Given the description of an element on the screen output the (x, y) to click on. 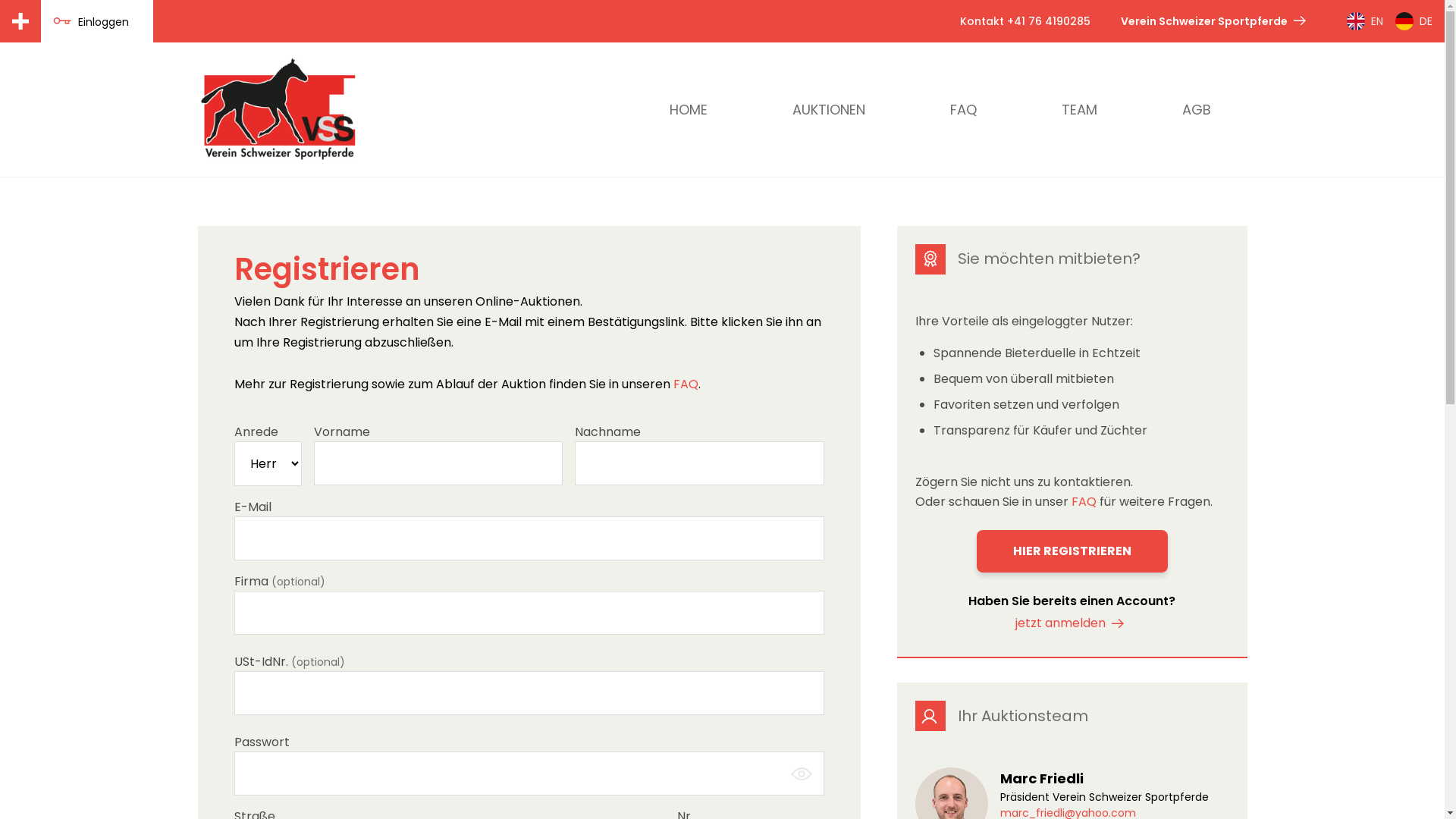
Kontakt +41 76 4190285 Element type: text (1025, 21)
Verein Schweizer Sportpferde Element type: text (1215, 21)
AUKTIONEN Element type: text (827, 109)
jetzt anmelden Element type: text (1071, 623)
Einloggen Element type: text (90, 21)
TEAM Element type: text (1079, 109)
FAQ Element type: text (962, 109)
DE Element type: text (1413, 21)
EN Element type: text (1364, 21)
FAQ Element type: text (685, 383)
FAQ Element type: text (1083, 501)
HOME Element type: text (687, 109)
HIER REGISTRIEREN Element type: text (1071, 551)
AGB Element type: text (1195, 109)
